Given the description of an element on the screen output the (x, y) to click on. 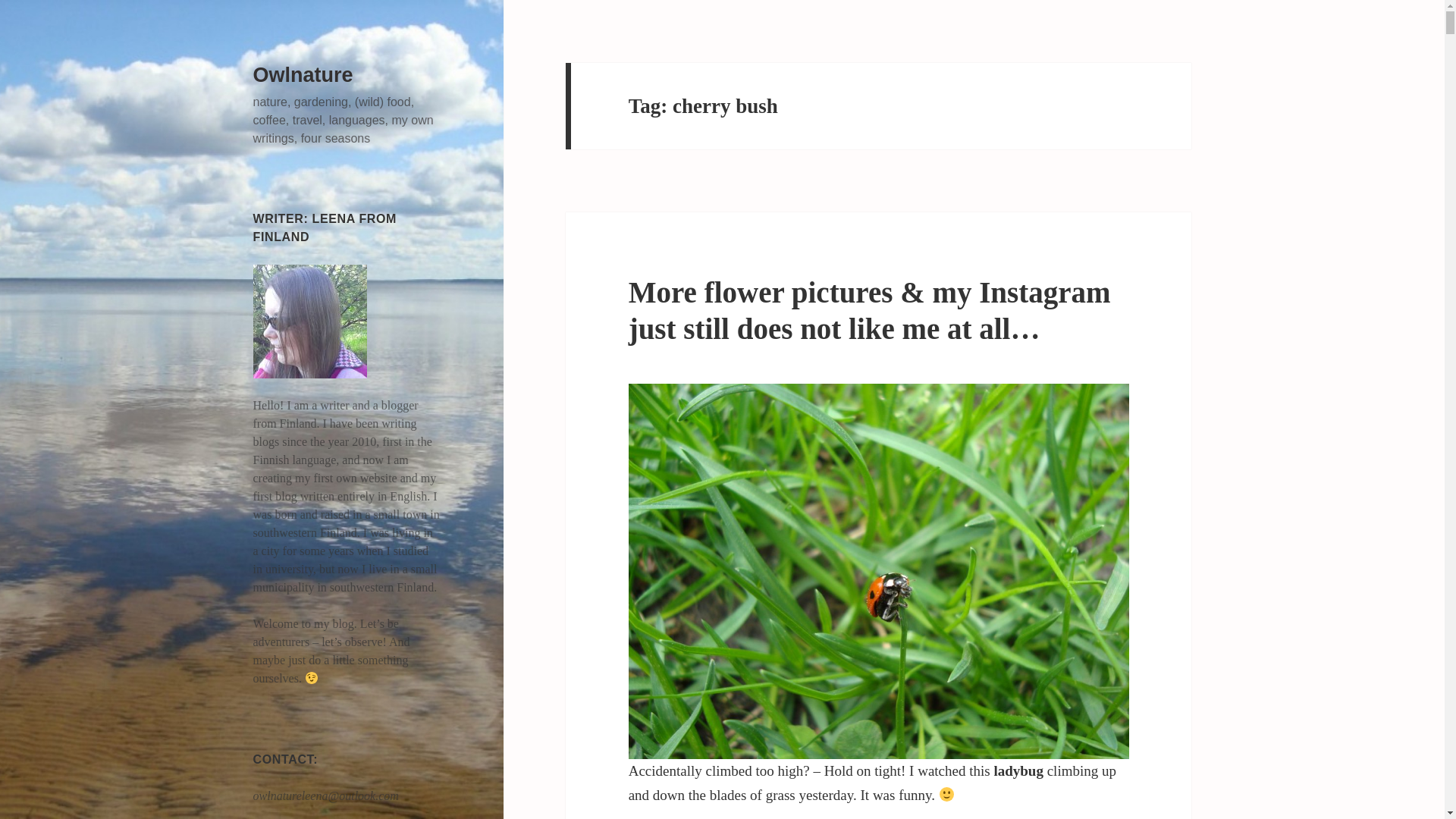
Owlnature (303, 74)
